Given the description of an element on the screen output the (x, y) to click on. 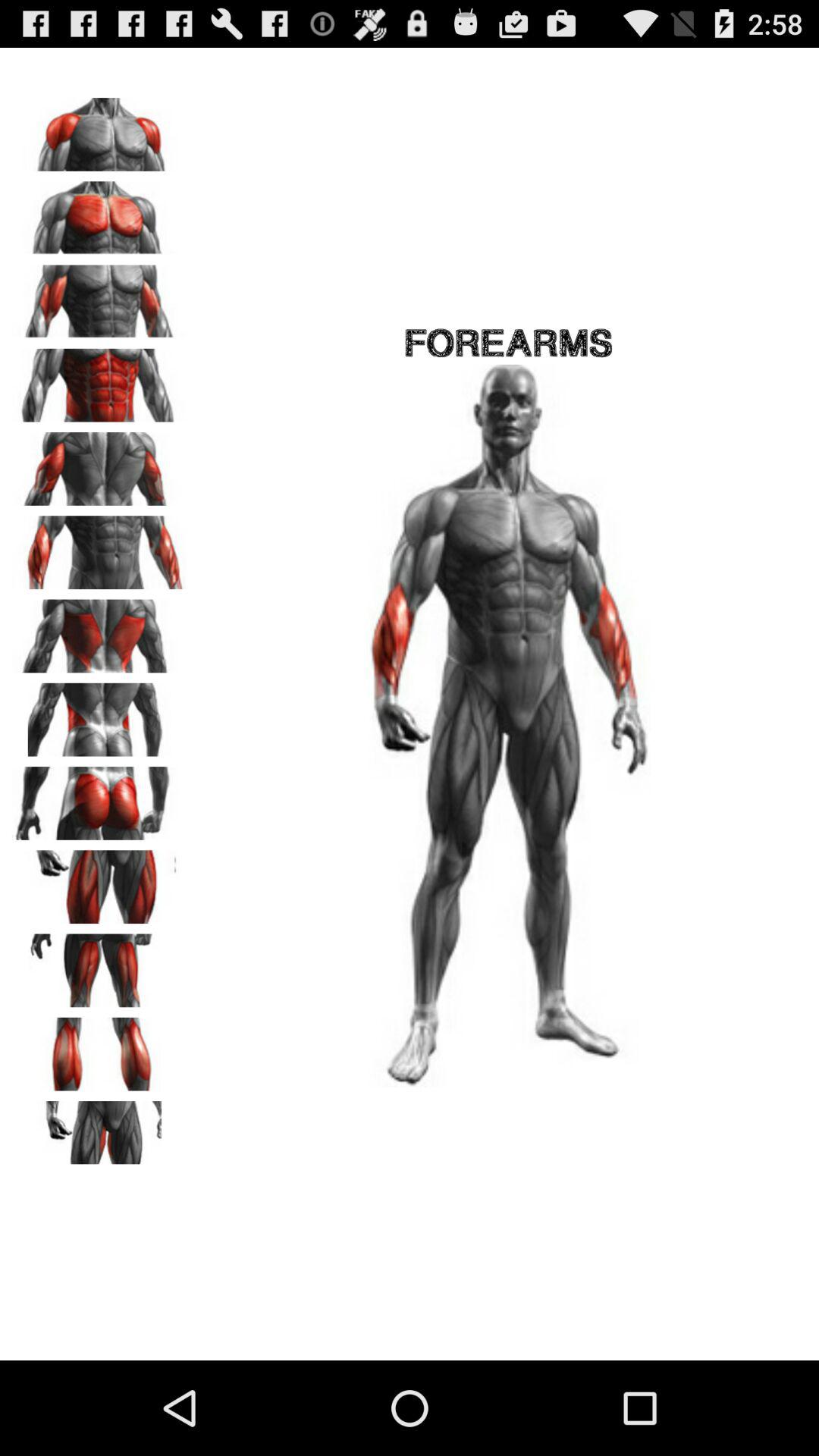
select image (99, 463)
